Given the description of an element on the screen output the (x, y) to click on. 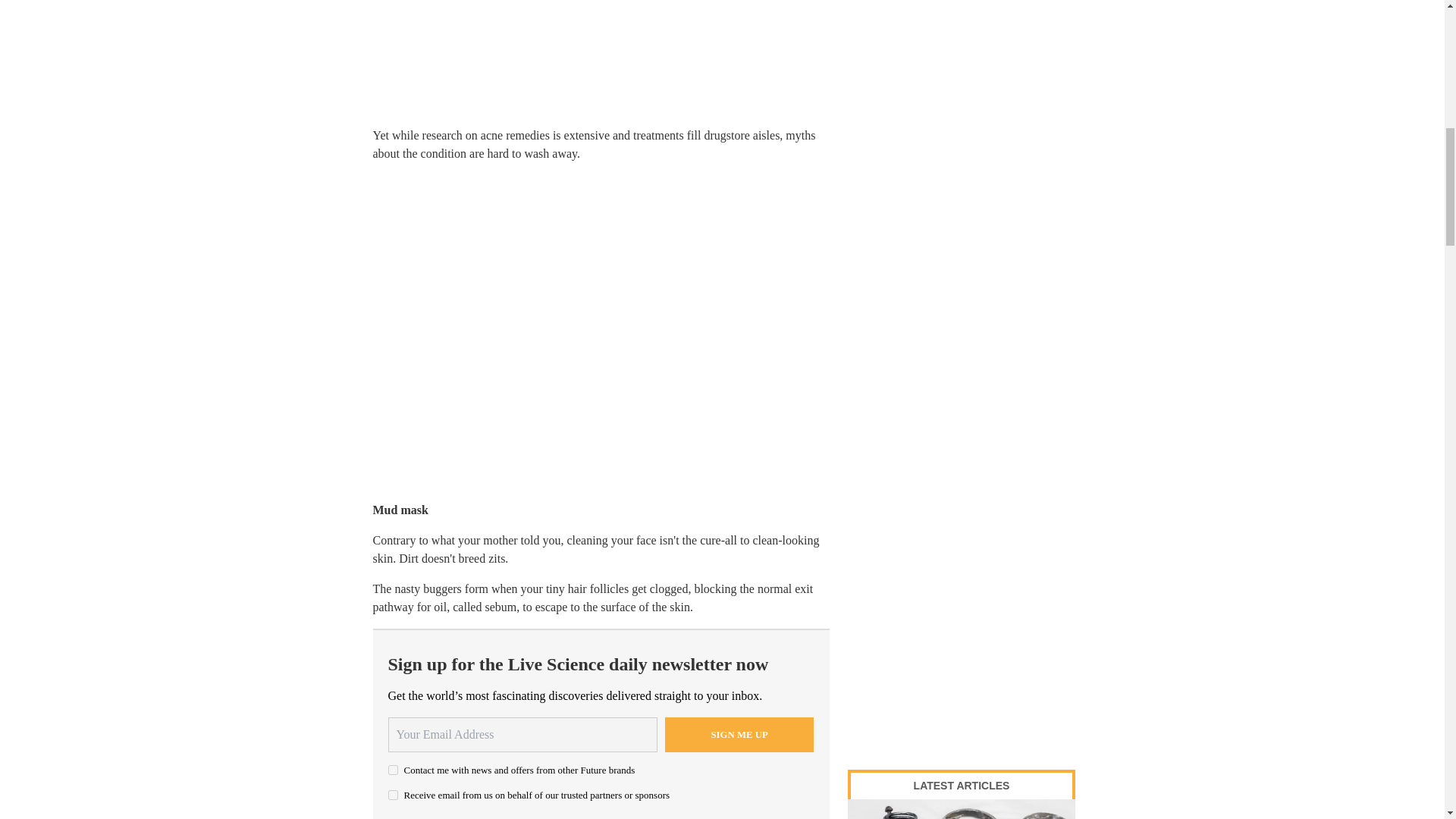
on (392, 795)
Sign me up (739, 734)
on (392, 769)
